Given the description of an element on the screen output the (x, y) to click on. 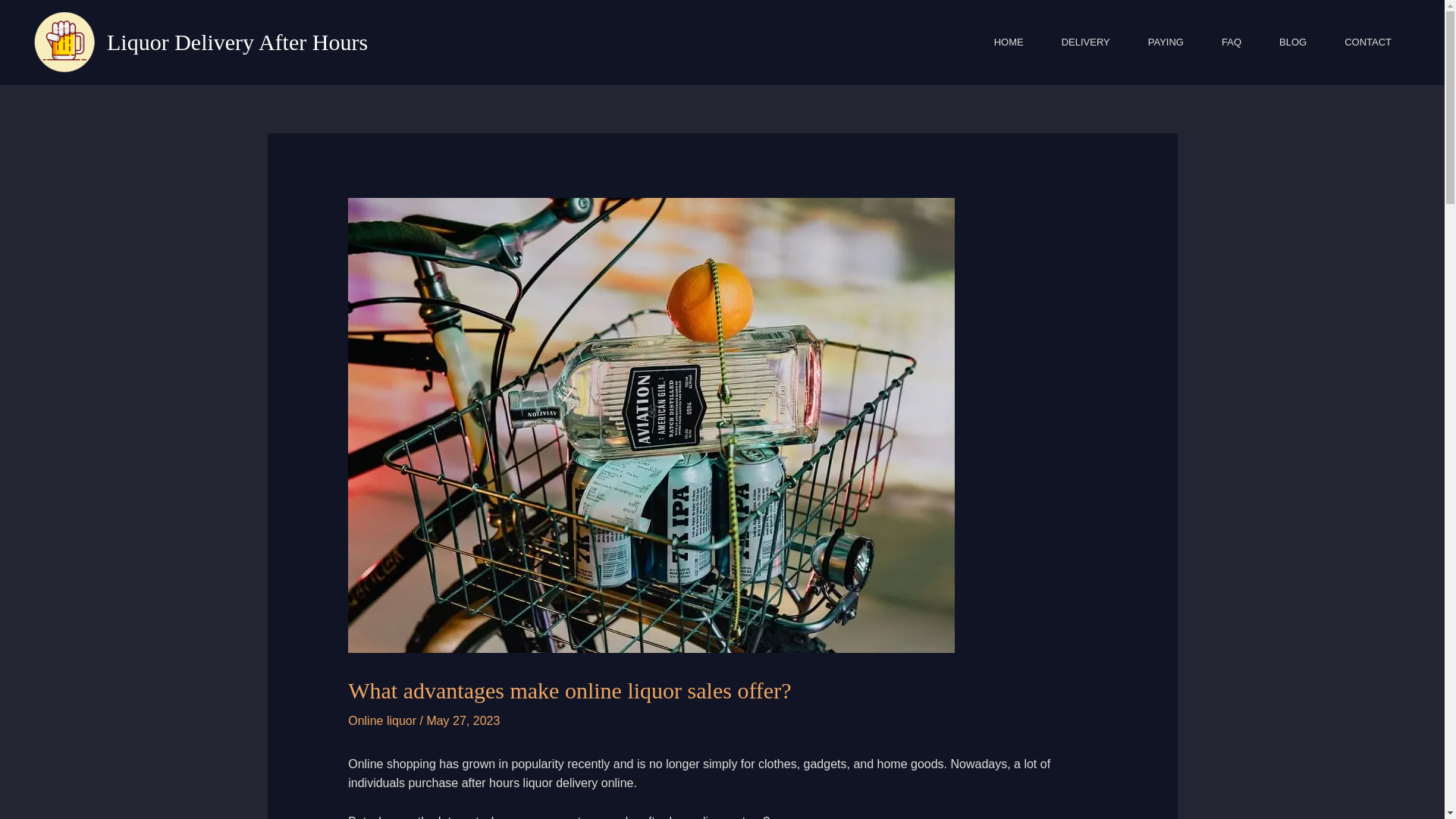
Liquor Delivery After Hours (237, 41)
HOME (1008, 42)
PAYING (1165, 42)
CONTACT (1367, 42)
DELIVERY (1085, 42)
Online liquor (381, 720)
